Given the description of an element on the screen output the (x, y) to click on. 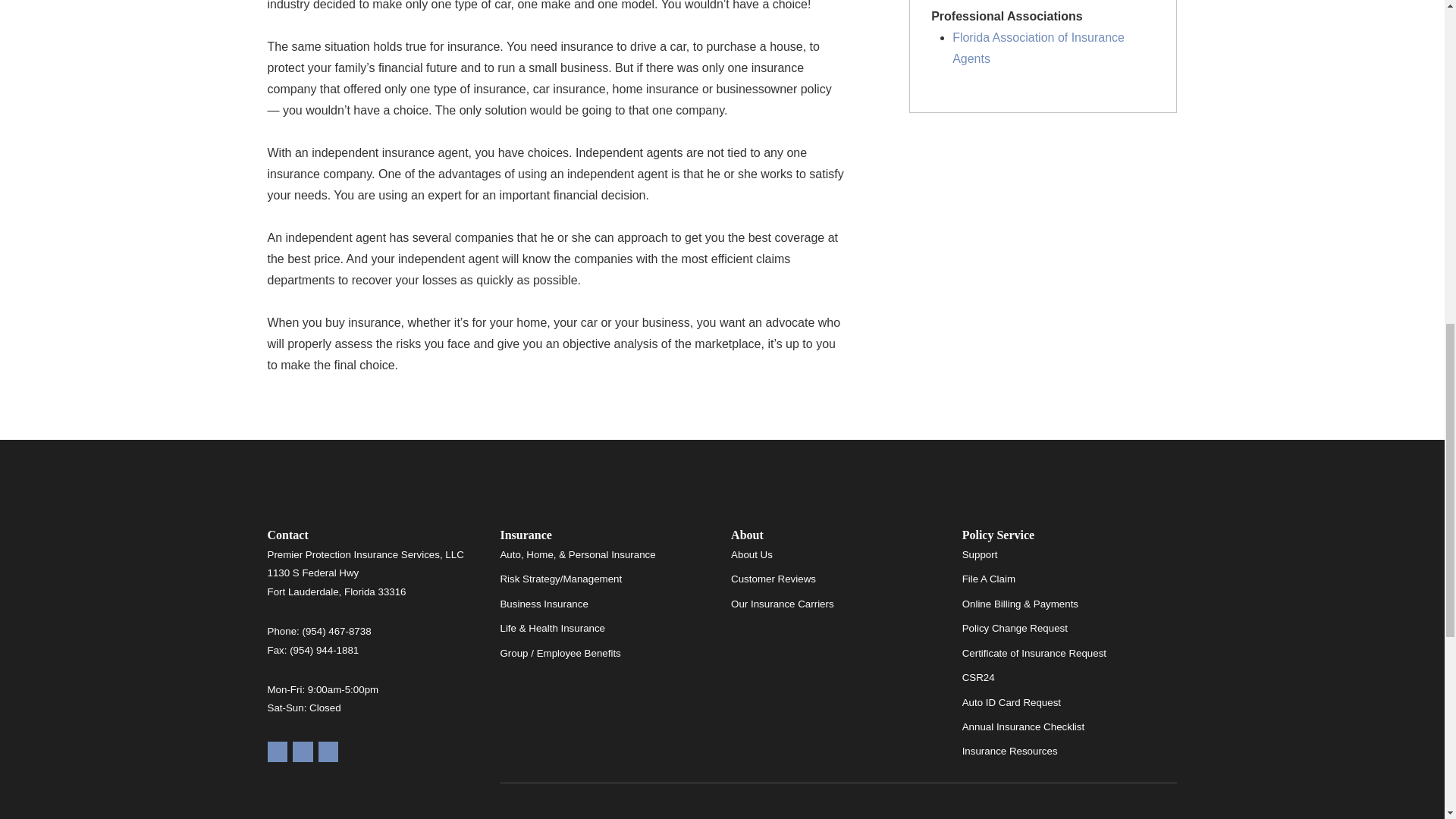
Yelp (302, 752)
Google Maps (276, 752)
LinkedIn (328, 752)
